Given the description of an element on the screen output the (x, y) to click on. 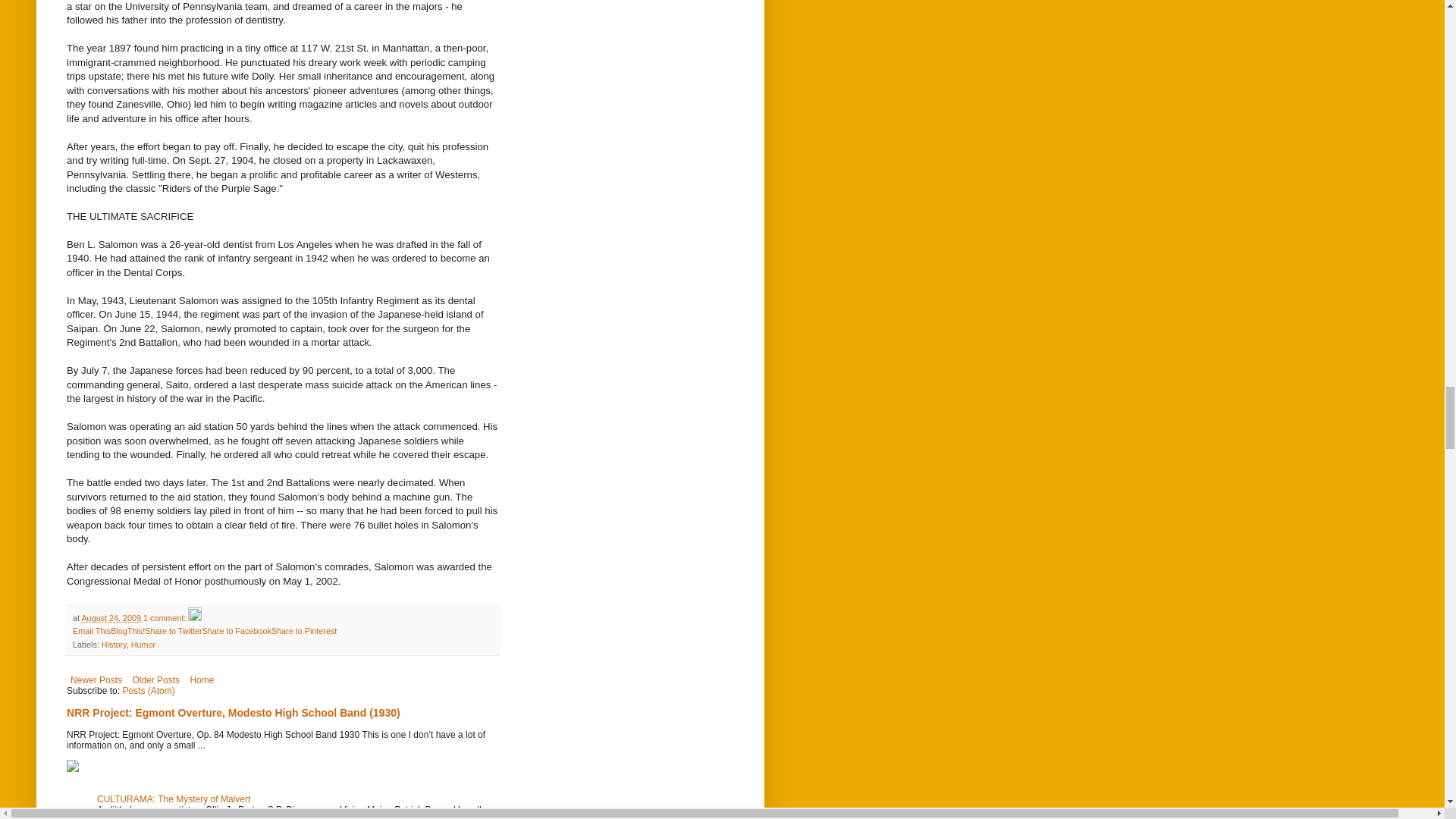
Home (201, 679)
Edit Post (194, 617)
1 comment: (164, 617)
Humor (143, 644)
Newer Posts (95, 679)
Email This (91, 630)
BlogThis! (127, 630)
permanent link (111, 617)
History (113, 644)
CULTURAMA: The Mystery of Malvert (173, 798)
August 24, 2009 (111, 617)
Share to Twitter (173, 630)
Share to Facebook (236, 630)
Older Posts (155, 679)
Email This (91, 630)
